Given the description of an element on the screen output the (x, y) to click on. 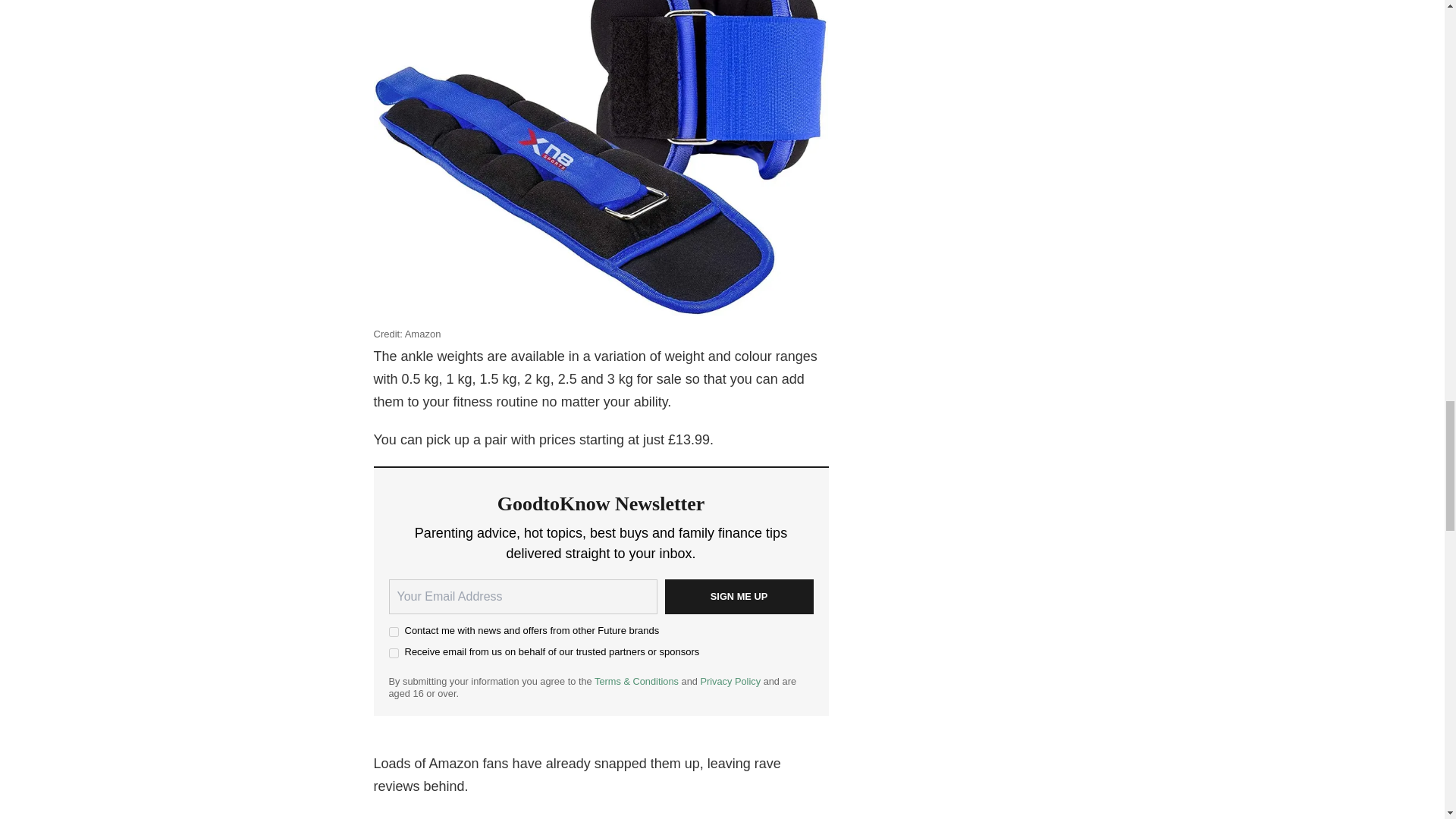
on (392, 653)
on (392, 632)
Sign me up (737, 596)
